Given the description of an element on the screen output the (x, y) to click on. 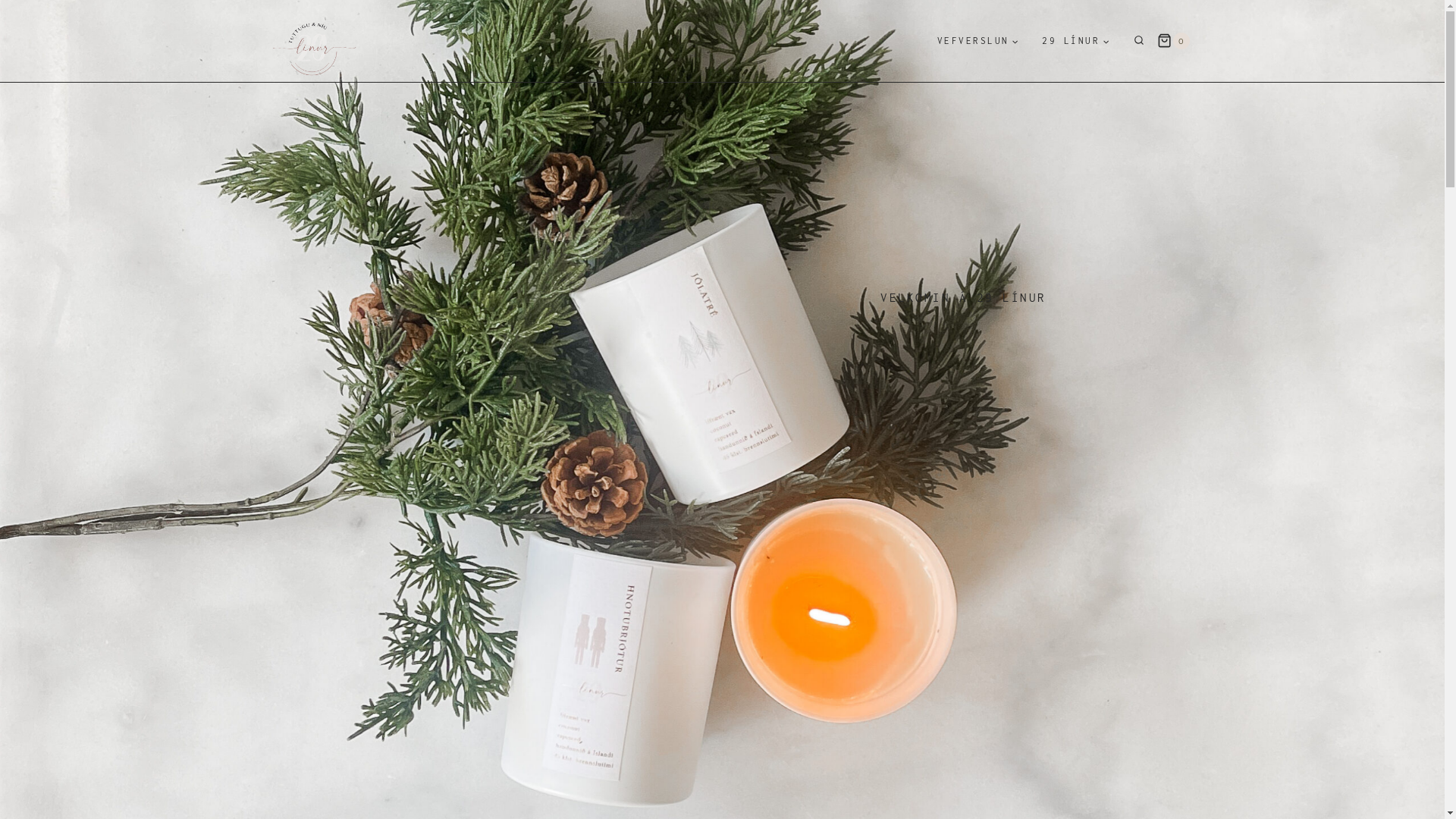
VEFVERSLUN Element type: text (977, 40)
0 Element type: text (1173, 40)
